Given the description of an element on the screen output the (x, y) to click on. 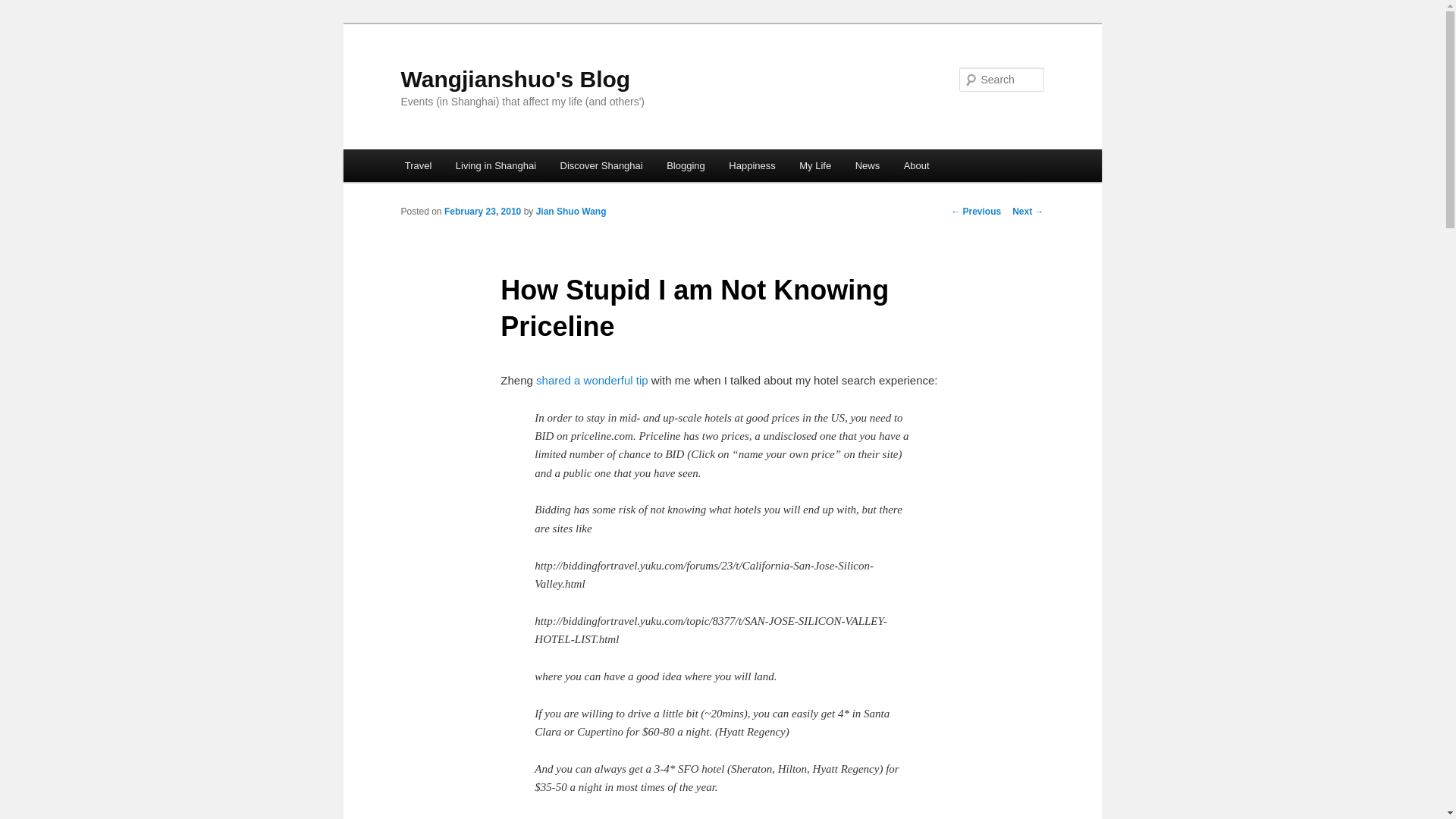
Wangjianshuo's Blog (515, 78)
Living in Shanghai (496, 165)
Travel (418, 165)
Search (24, 8)
View all posts by Jian Shuo Wang (571, 211)
3:50 am (482, 211)
